Given the description of an element on the screen output the (x, y) to click on. 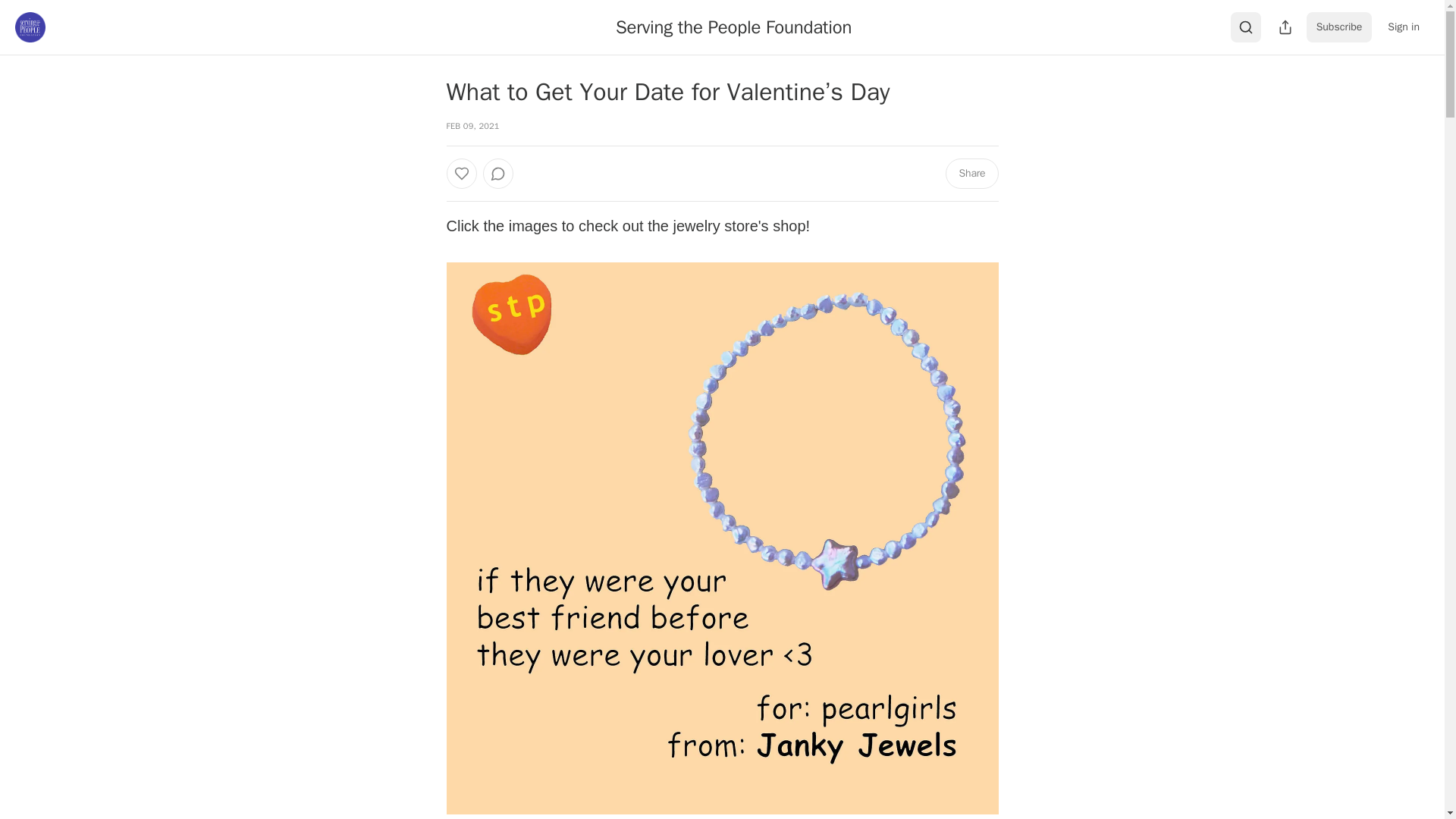
Share (970, 173)
Sign in (1403, 27)
Subscribe (1339, 27)
Serving the People Foundation (733, 26)
